Given the description of an element on the screen output the (x, y) to click on. 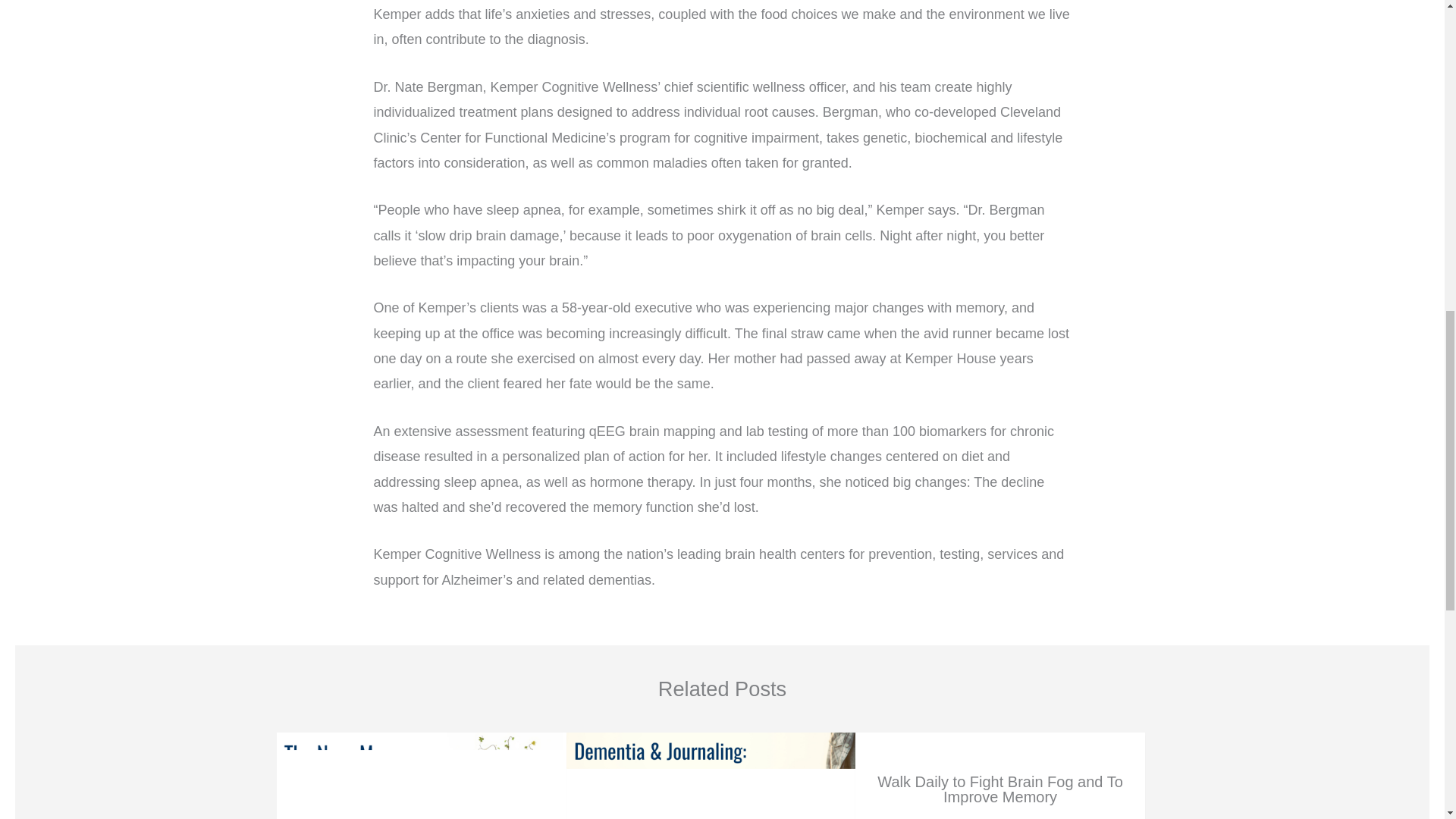
Walk Daily to Fight Brain Fog and To Improve Memory (999, 789)
Walk Daily to Fight Brain Fog and To Improve Memory (1000, 743)
